Given the description of an element on the screen output the (x, y) to click on. 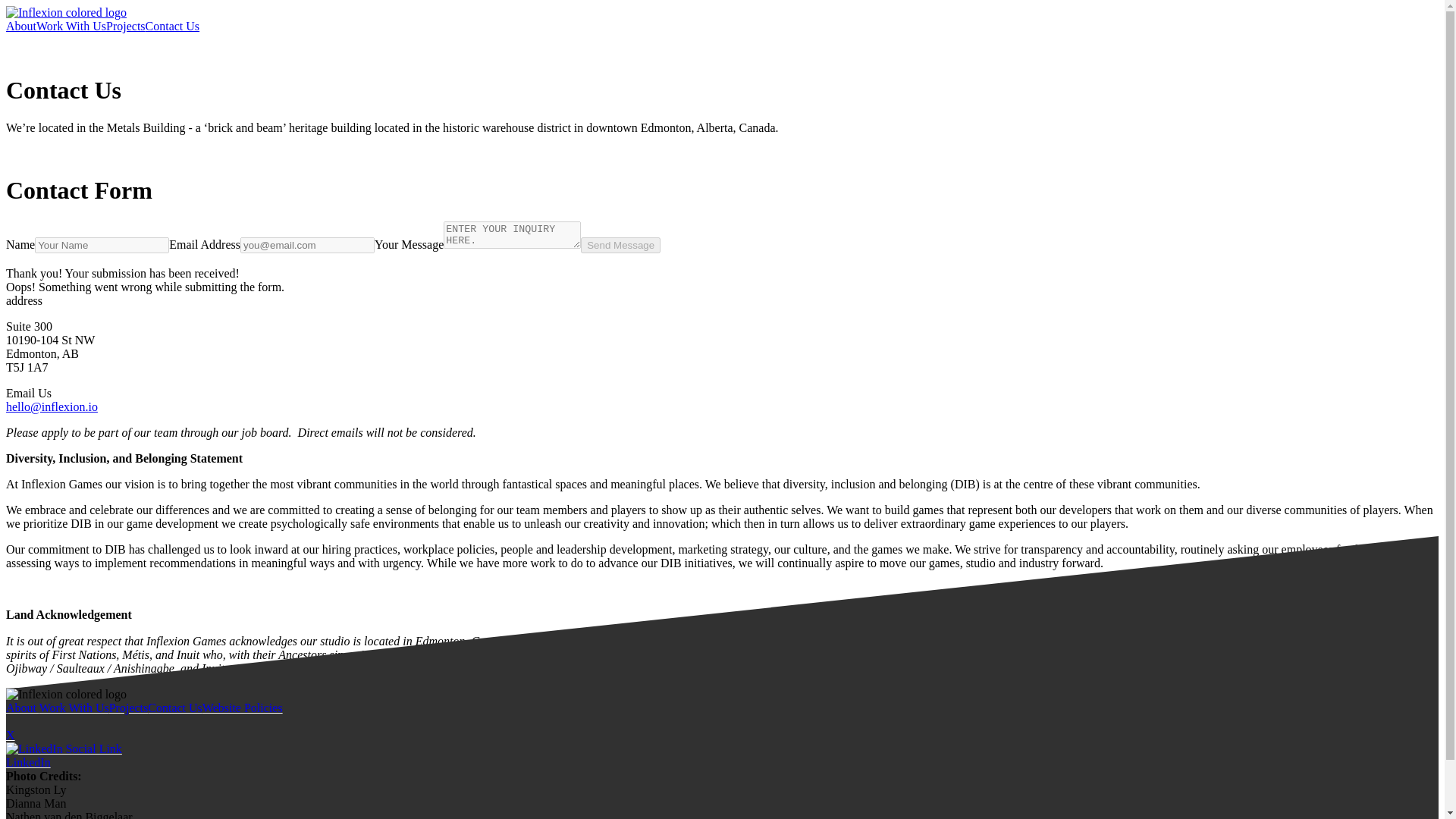
Send Message (620, 245)
X (143, 748)
Projects (125, 25)
Projects (128, 707)
About (22, 707)
Work With Us (74, 707)
Contact Us (172, 25)
Contact Us (175, 707)
Send Message (620, 245)
Work With Us (71, 25)
About (20, 25)
LinkedIn (143, 755)
Website Policies (242, 707)
